Given the description of an element on the screen output the (x, y) to click on. 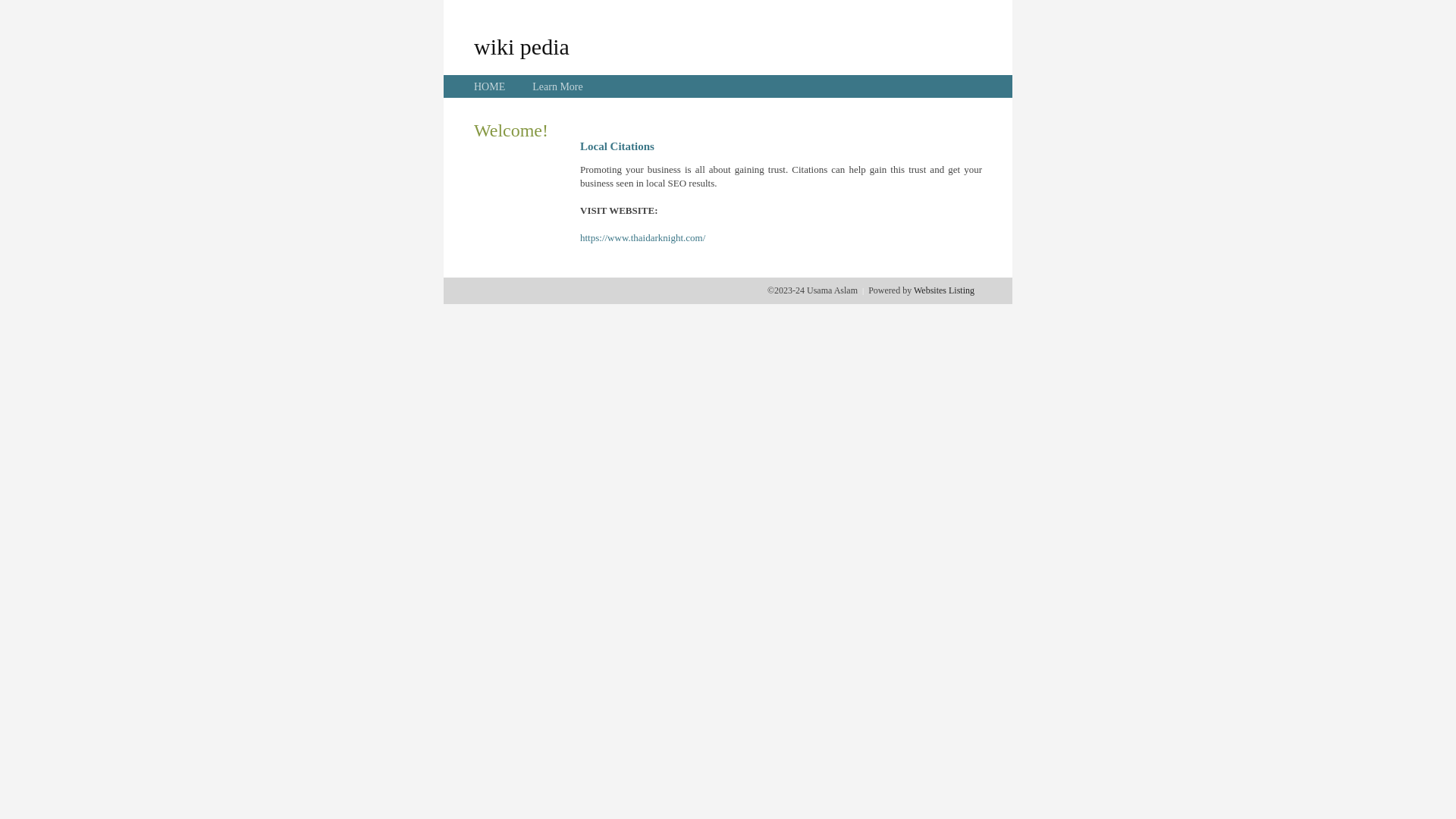
HOME Element type: text (489, 86)
wiki pedia Element type: text (521, 46)
Websites Listing Element type: text (943, 290)
Learn More Element type: text (557, 86)
https://www.thaidarknight.com/ Element type: text (642, 237)
